Given the description of an element on the screen output the (x, y) to click on. 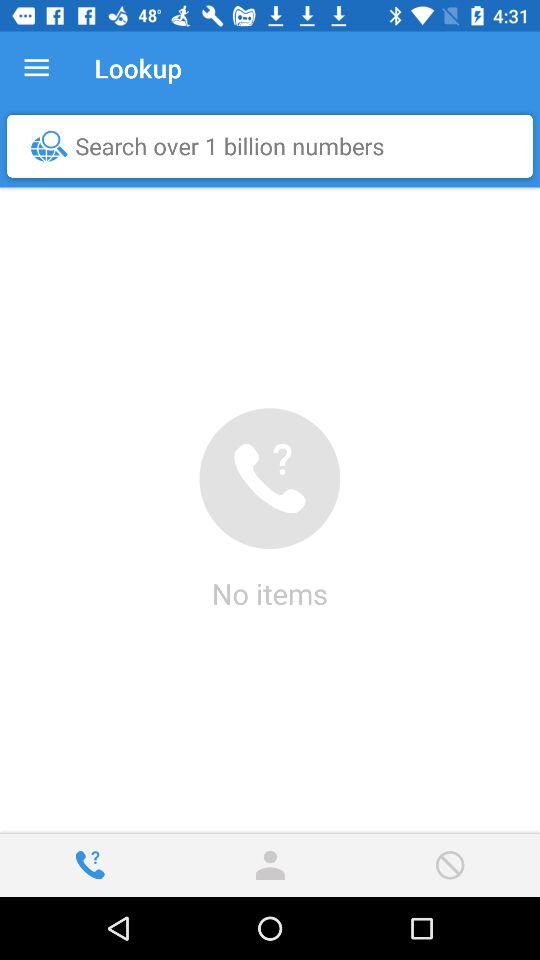
select the search over 1 icon (275, 146)
